Given the description of an element on the screen output the (x, y) to click on. 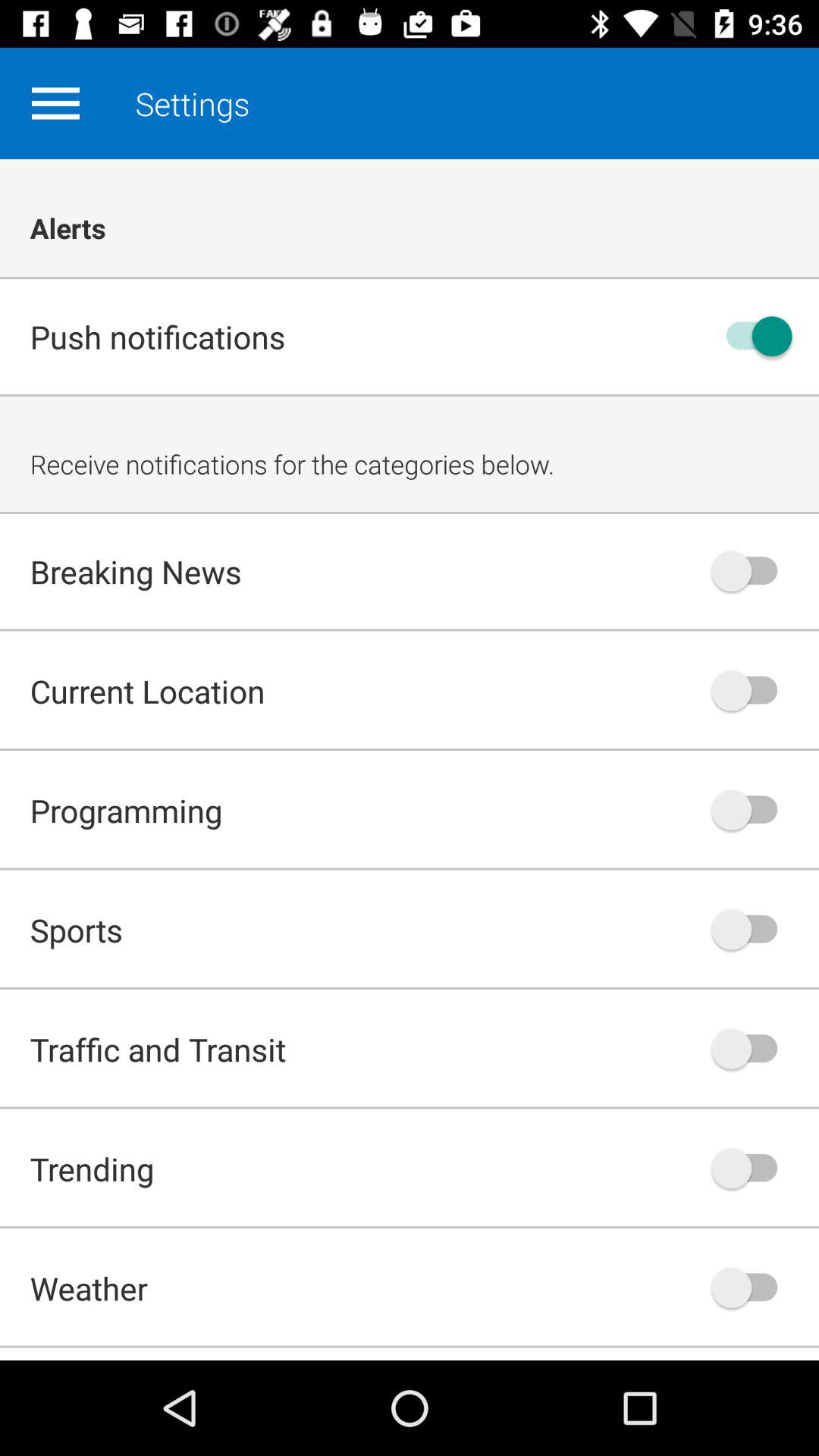
toggle programming notifications (751, 810)
